Given the description of an element on the screen output the (x, y) to click on. 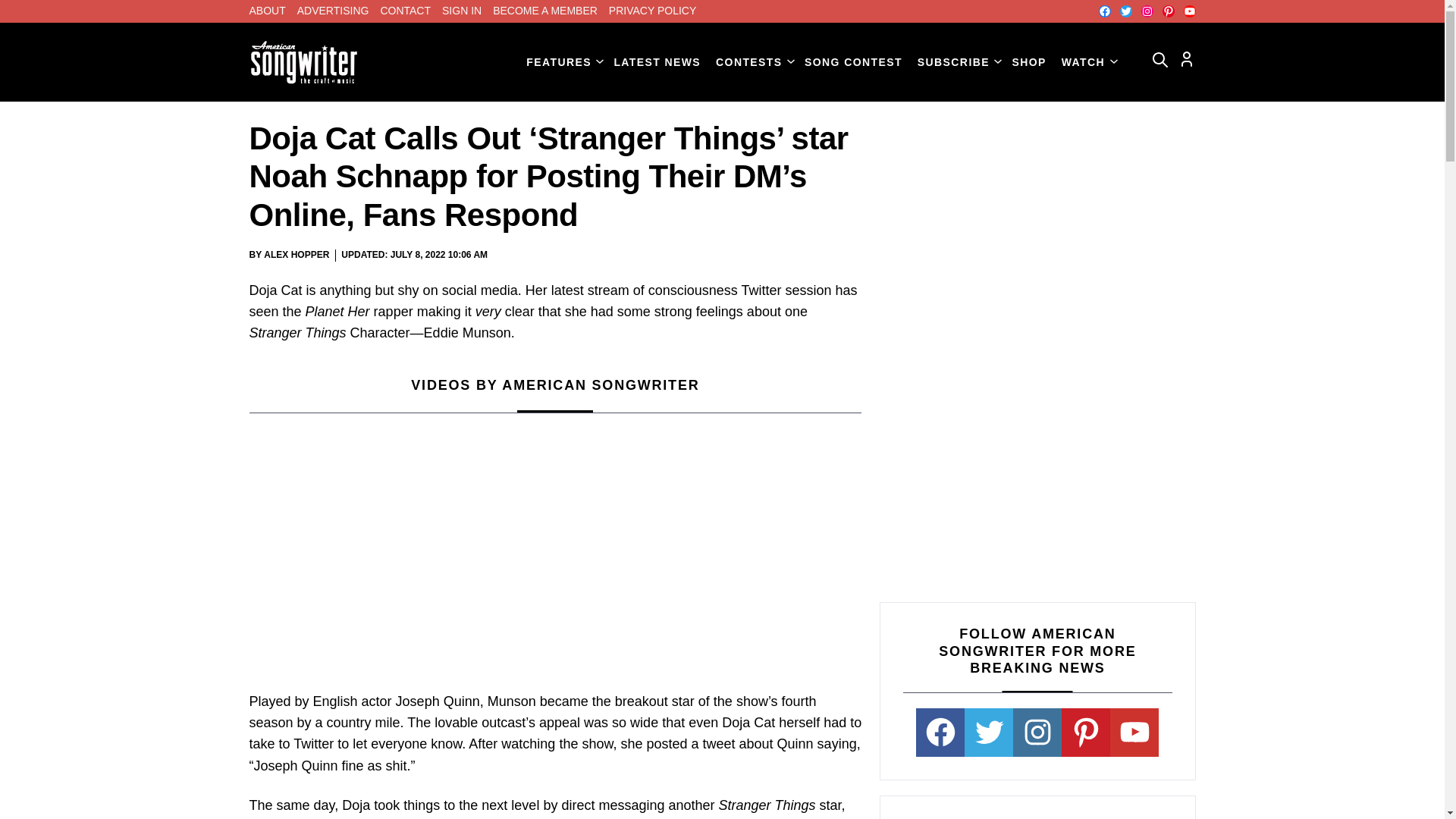
Pinterest (1167, 10)
PRIVACY POLICY (651, 10)
SIGN IN (461, 10)
CONTACT (405, 10)
Posts by Alex Hopper (296, 254)
July 8, 2022 10:06 am (438, 255)
Instagram (1146, 10)
ABOUT (266, 10)
ADVERTISING (333, 10)
BECOME A MEMBER (544, 10)
